Given the description of an element on the screen output the (x, y) to click on. 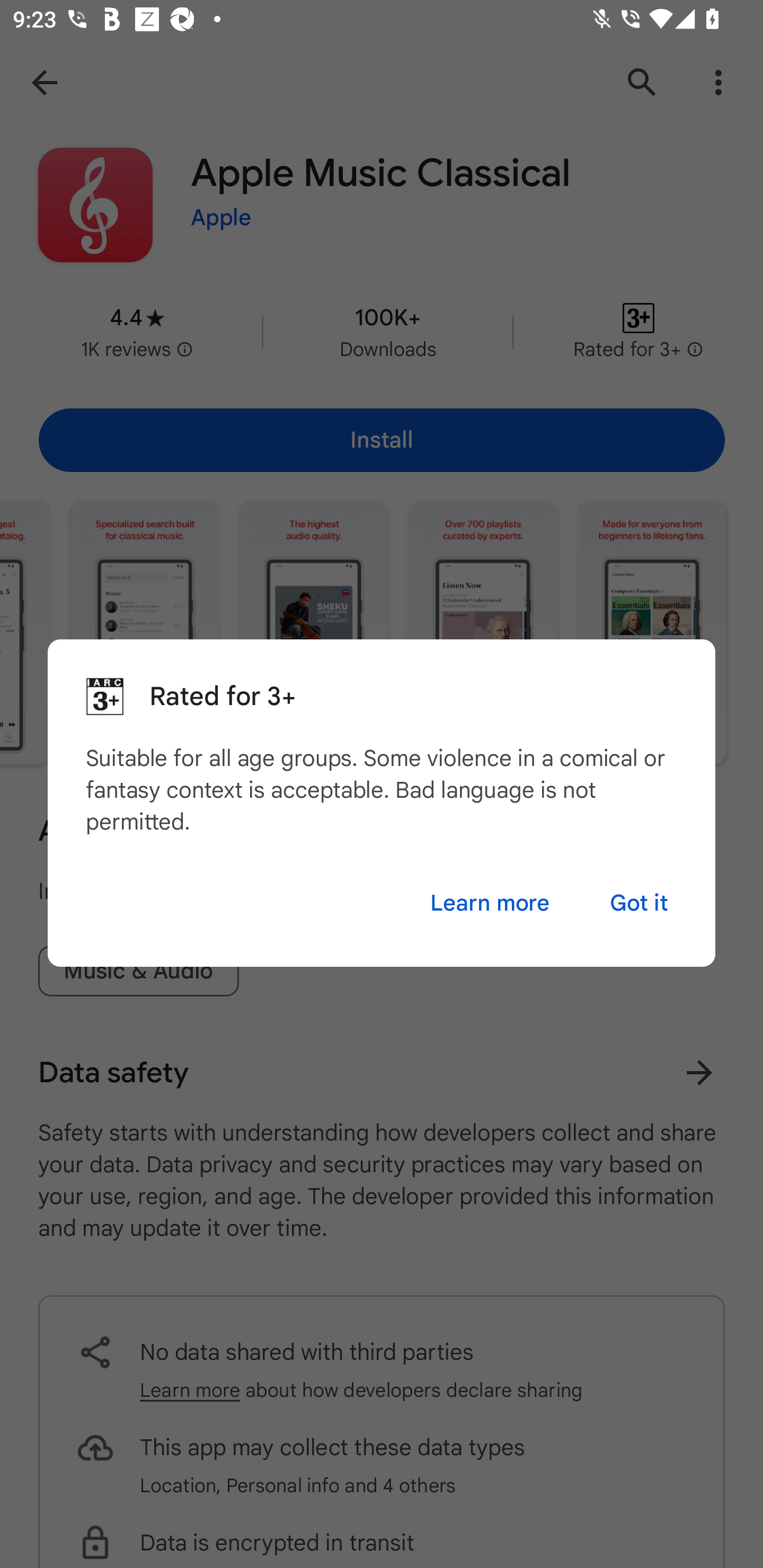
Learn more (490, 902)
Got it (639, 902)
